Given the description of an element on the screen output the (x, y) to click on. 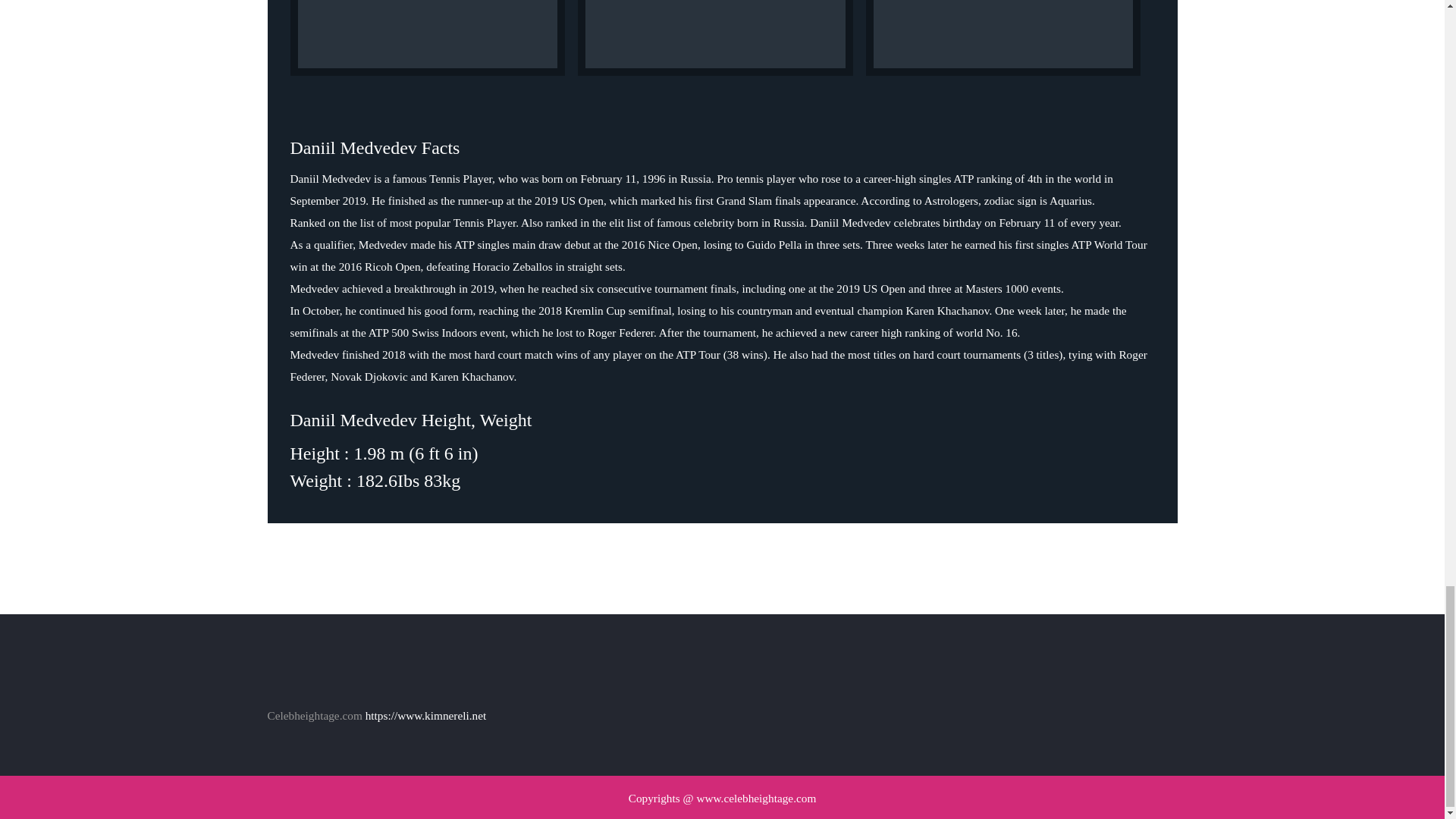
Medvedev Daniil6 (1003, 38)
Medvedev Daniil5 (715, 38)
Medvedev Daniil4 (426, 38)
